Given the description of an element on the screen output the (x, y) to click on. 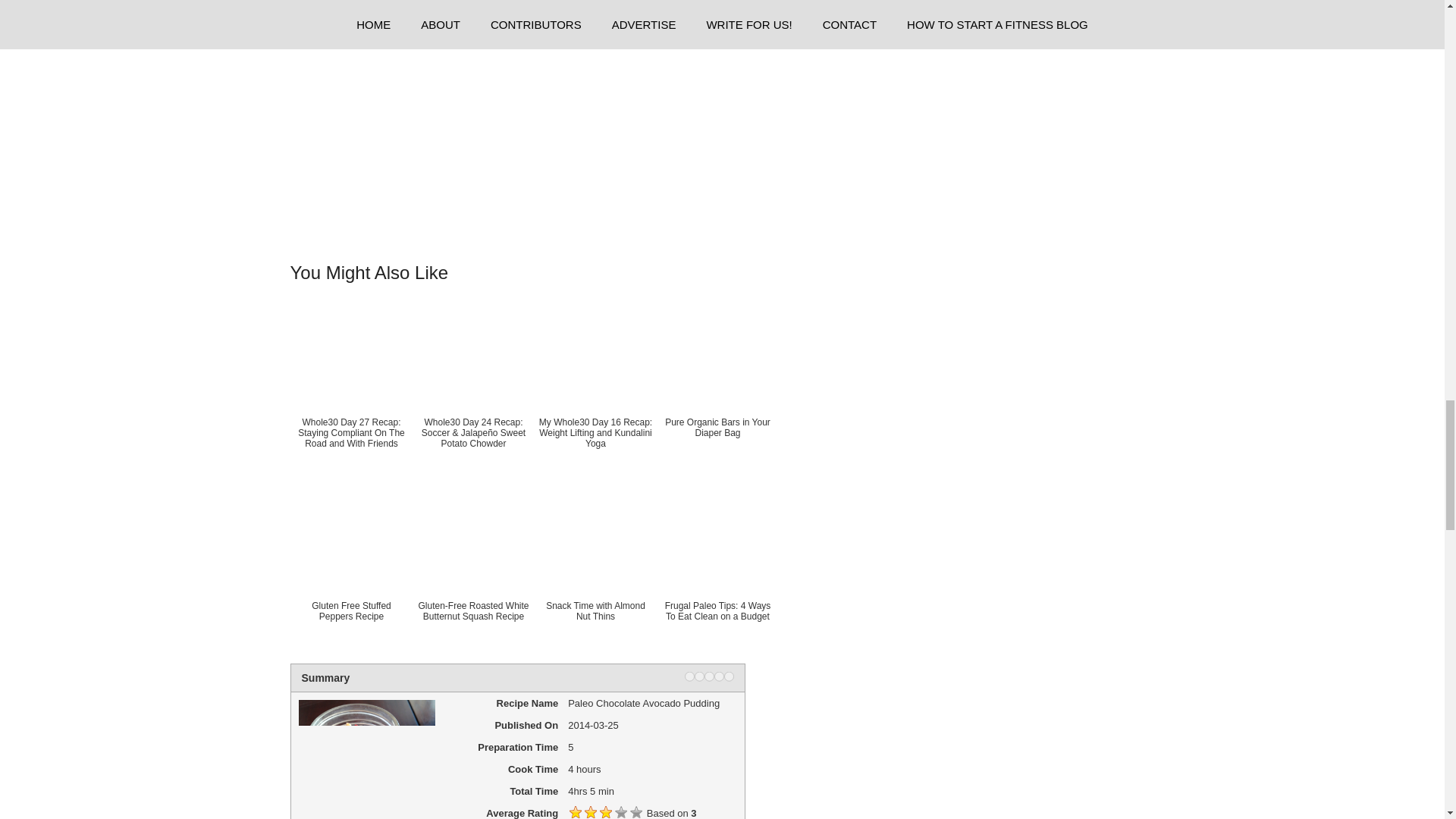
Paleo Chocolate Pudding Recipe (522, 109)
2 (699, 676)
5 (728, 676)
3 (708, 676)
1 (689, 676)
4 (718, 676)
